Given the description of an element on the screen output the (x, y) to click on. 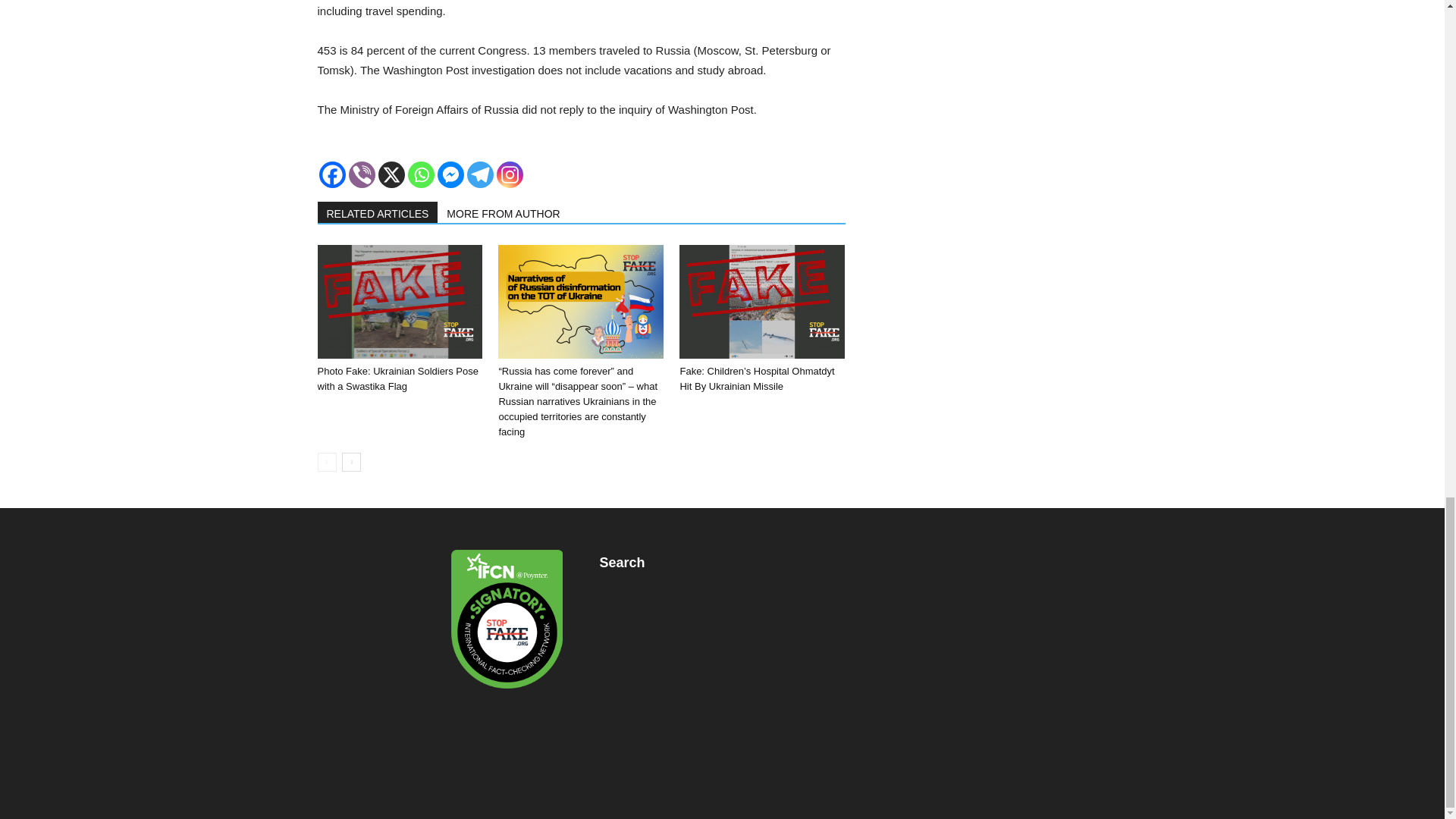
Viber (362, 174)
Facebook (331, 174)
X (390, 174)
Whatsapp (420, 174)
Photo Fake: Ukrainian Soldiers Pose with a Swastika Flag (399, 301)
Instagram (509, 174)
Telegram (480, 174)
